Given the description of an element on the screen output the (x, y) to click on. 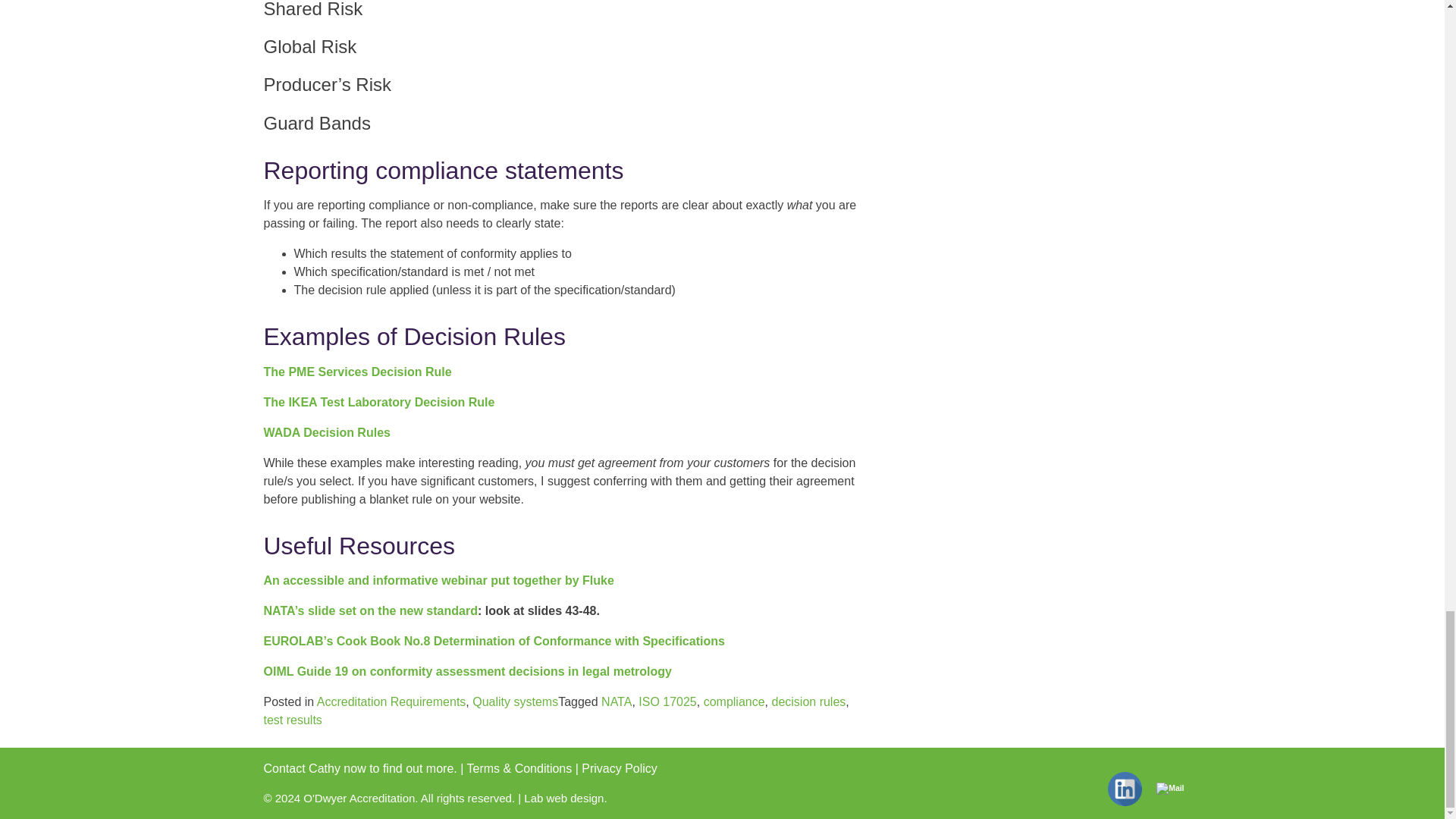
Linkedin (1124, 788)
Quality systems (514, 701)
Mail (1169, 788)
The PME Services Decision Rule (357, 371)
NATA (616, 701)
compliance (734, 701)
Accreditation Requirements (391, 701)
The IKEA Test Laboratory Decision Rule (379, 401)
ISO 17025 (668, 701)
An accessible and informative webinar put together by Fluke (438, 580)
WADA Decision Rules (326, 431)
